Given the description of an element on the screen output the (x, y) to click on. 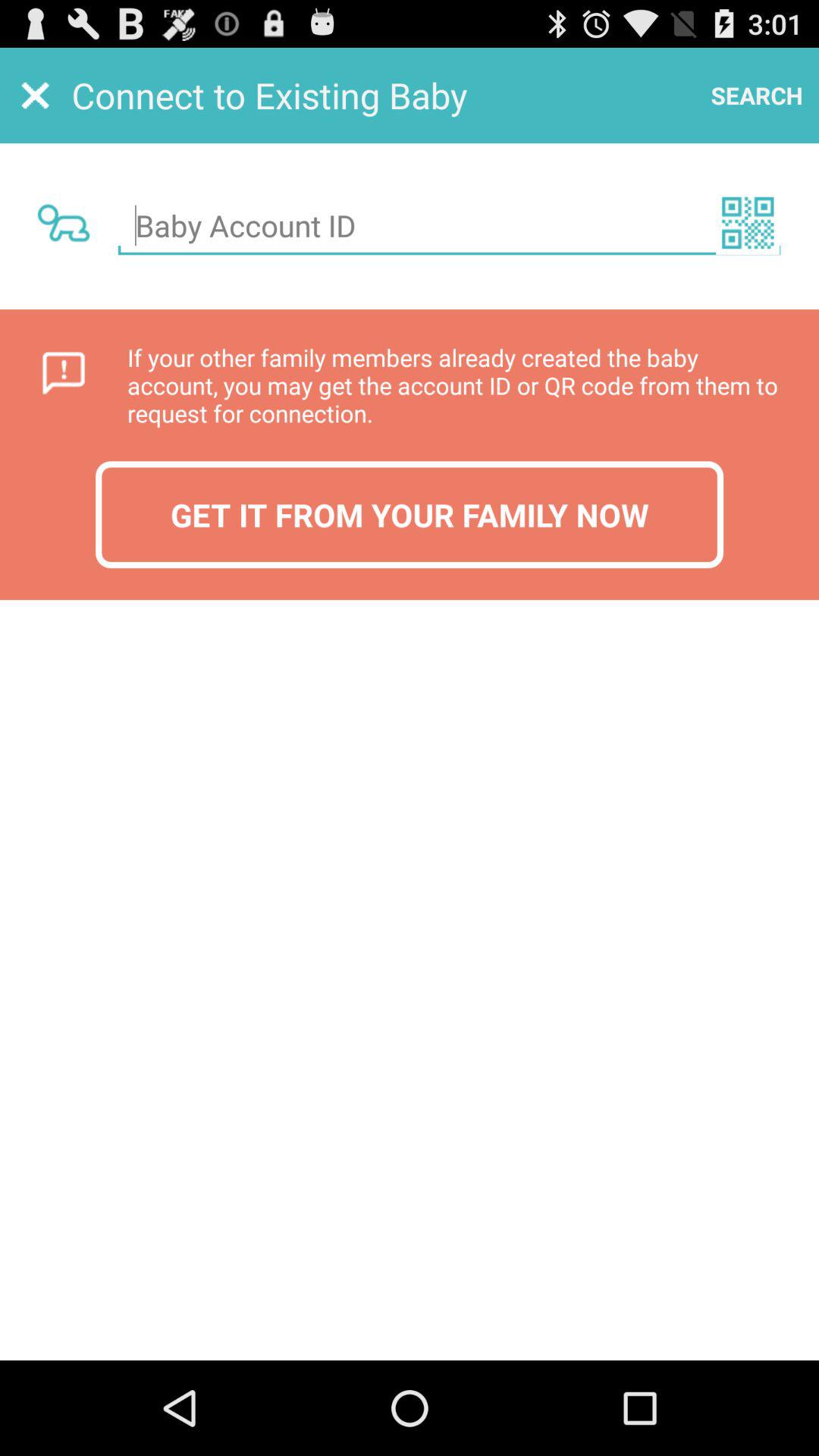
turn on the search (757, 95)
